Given the description of an element on the screen output the (x, y) to click on. 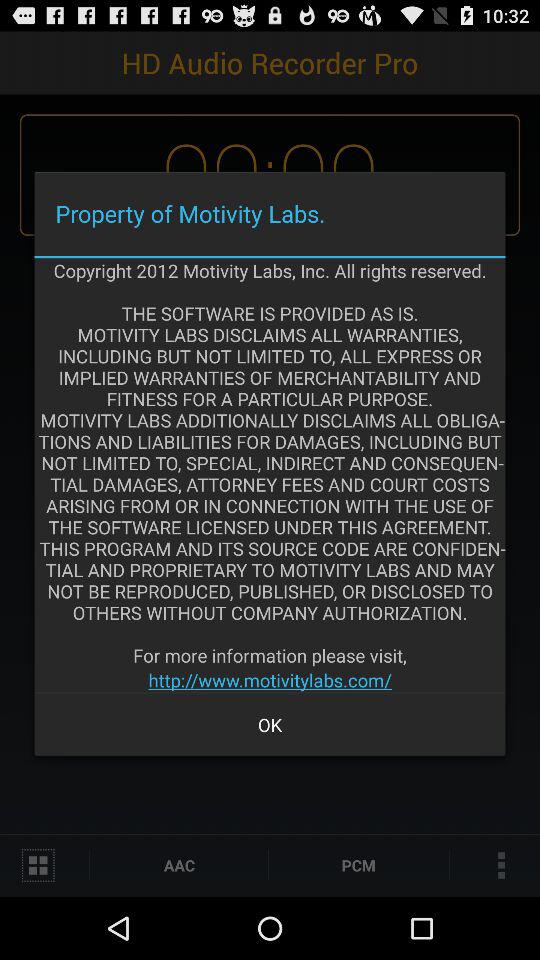
turn off item above ok item (269, 679)
